Given the description of an element on the screen output the (x, y) to click on. 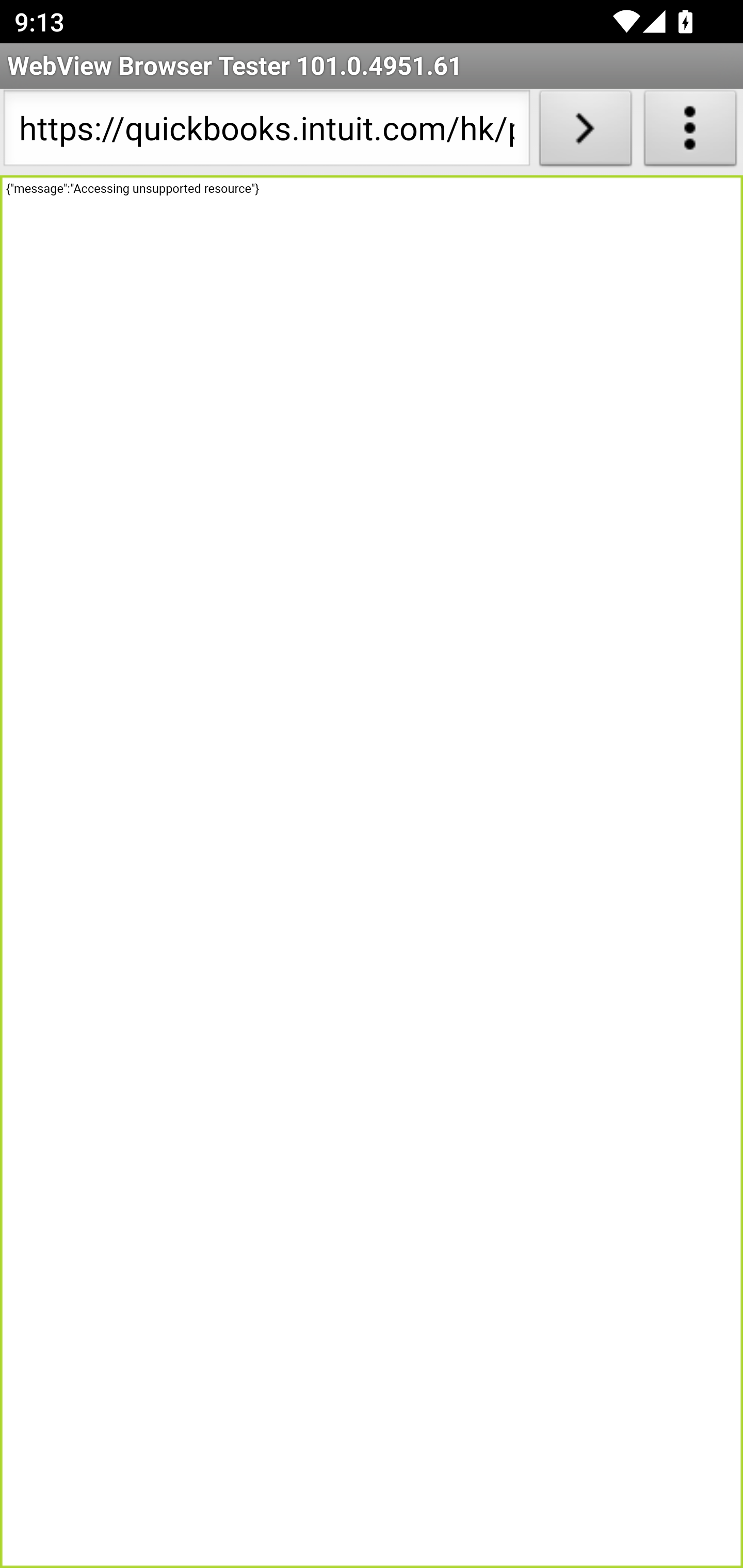
Load URL (585, 132)
About WebView (690, 132)
